Given the description of an element on the screen output the (x, y) to click on. 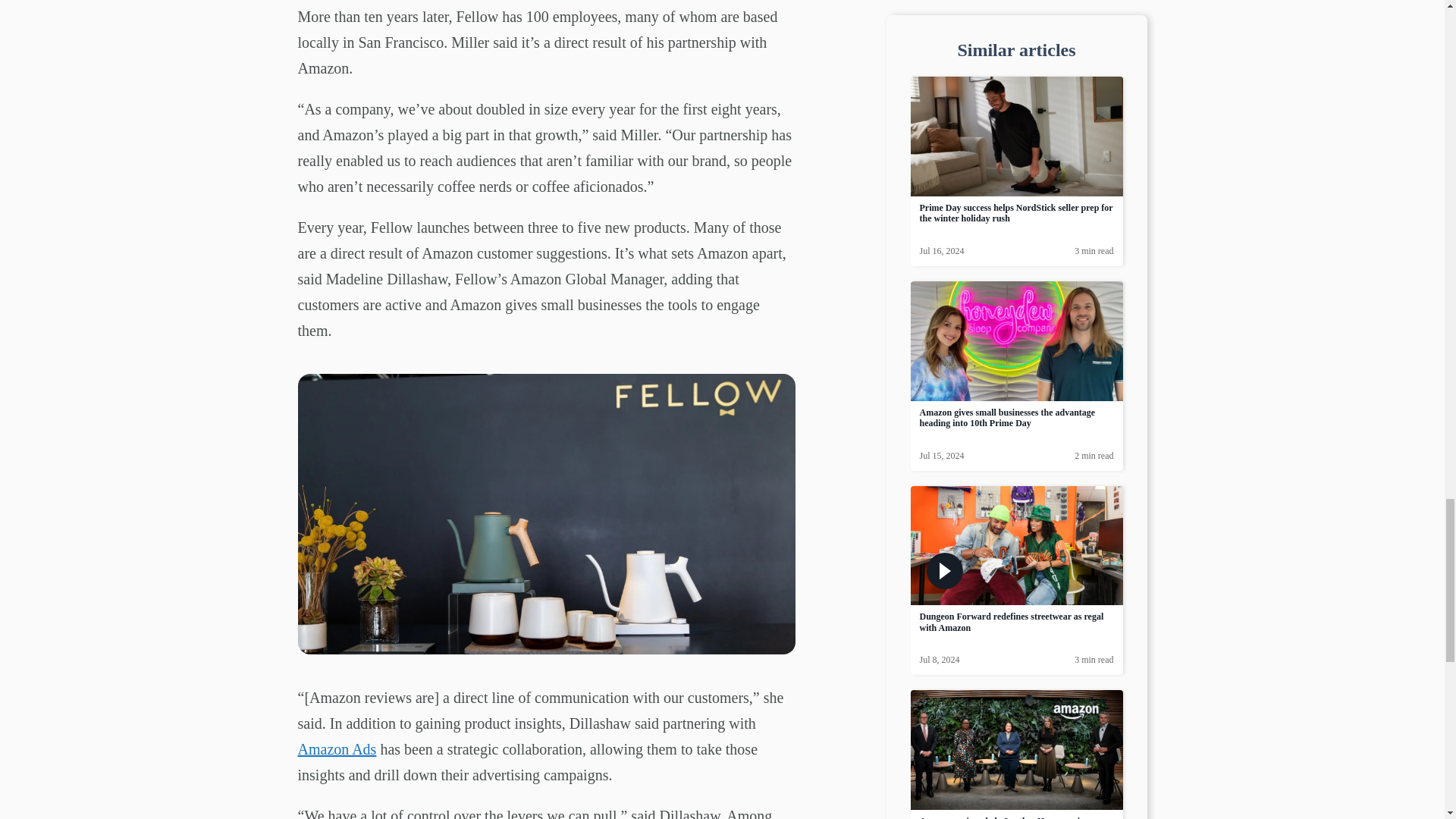
Amazon Ads (336, 749)
